Given the description of an element on the screen output the (x, y) to click on. 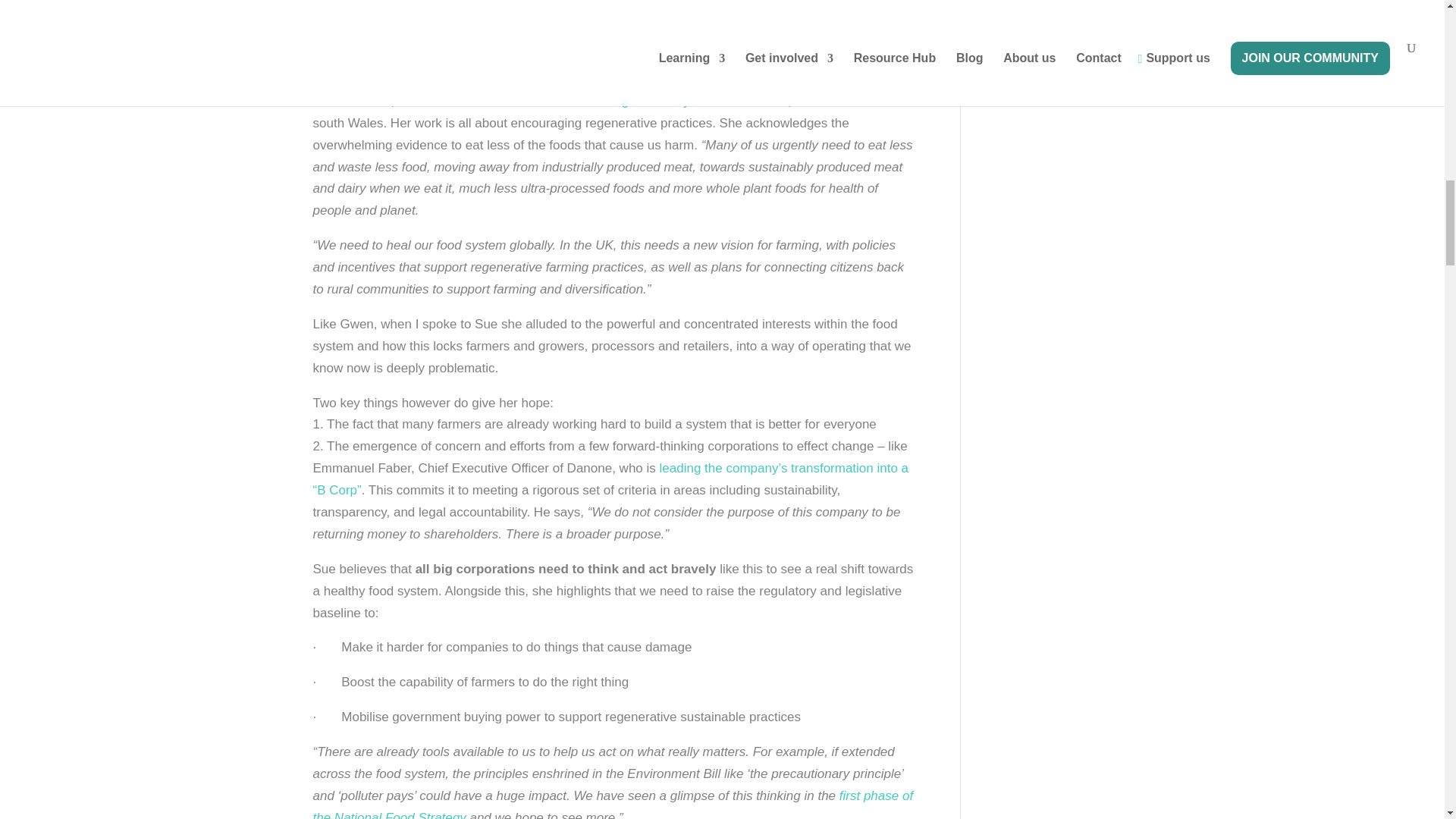
first phase of the National Food Strategy (612, 803)
